Given the description of an element on the screen output the (x, y) to click on. 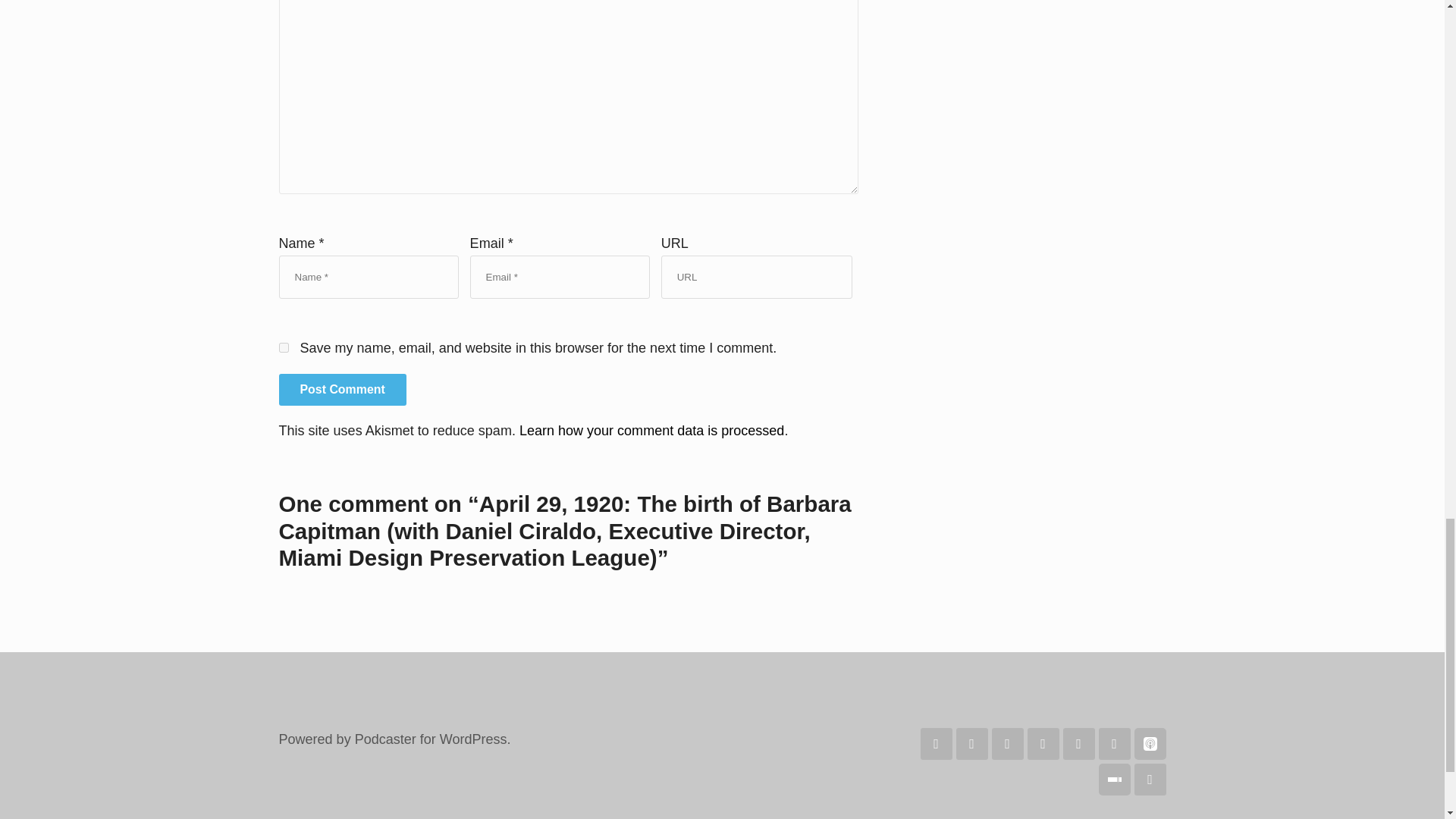
yes (283, 347)
Post Comment (342, 389)
